Given the description of an element on the screen output the (x, y) to click on. 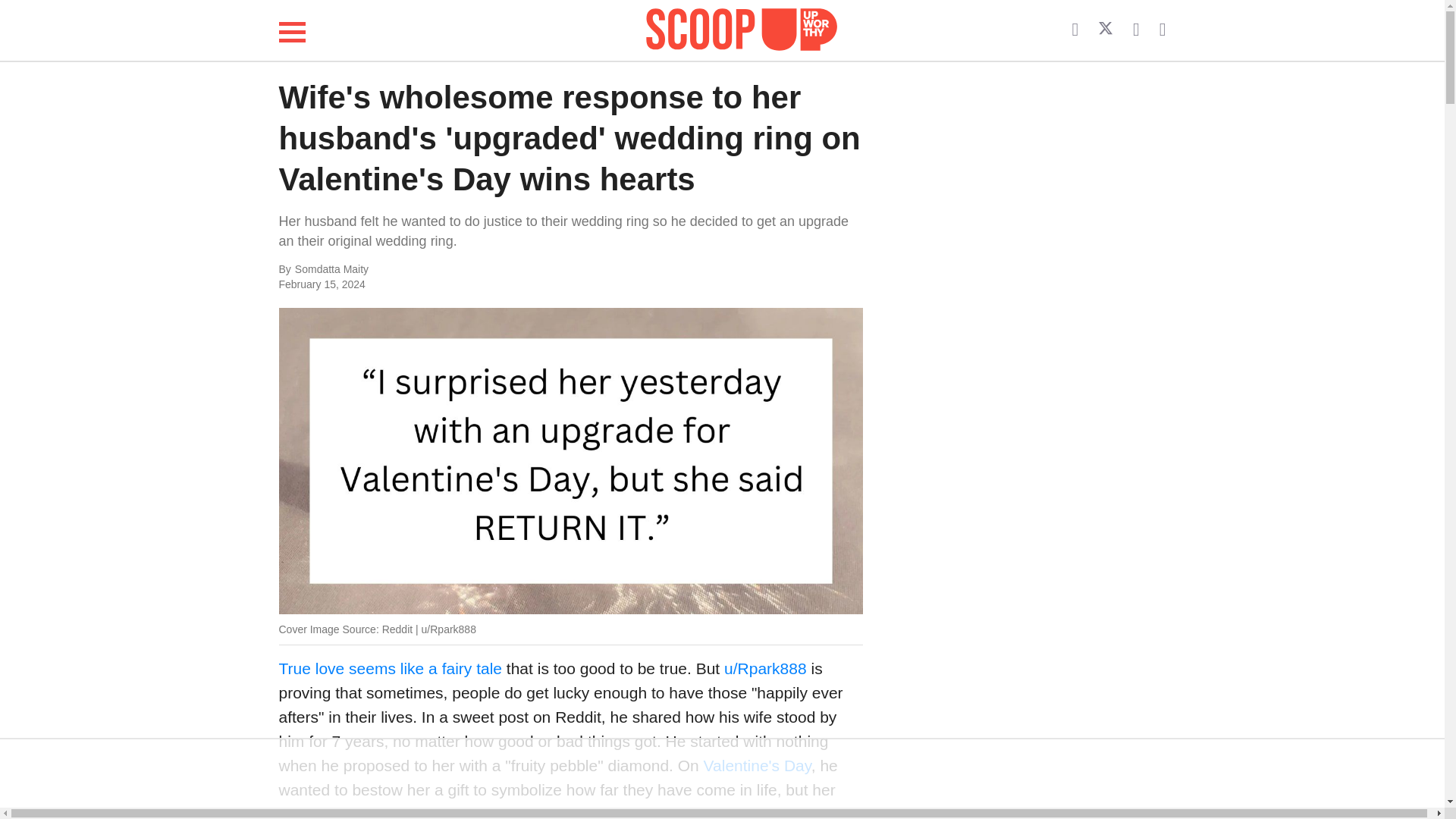
True love seems like a fairy tale (390, 668)
SCOOP UPWORTHY (741, 27)
SCOOP UPWORTHY (741, 29)
Valentine's Day (756, 764)
Somdatta Maity (445, 269)
